Given the description of an element on the screen output the (x, y) to click on. 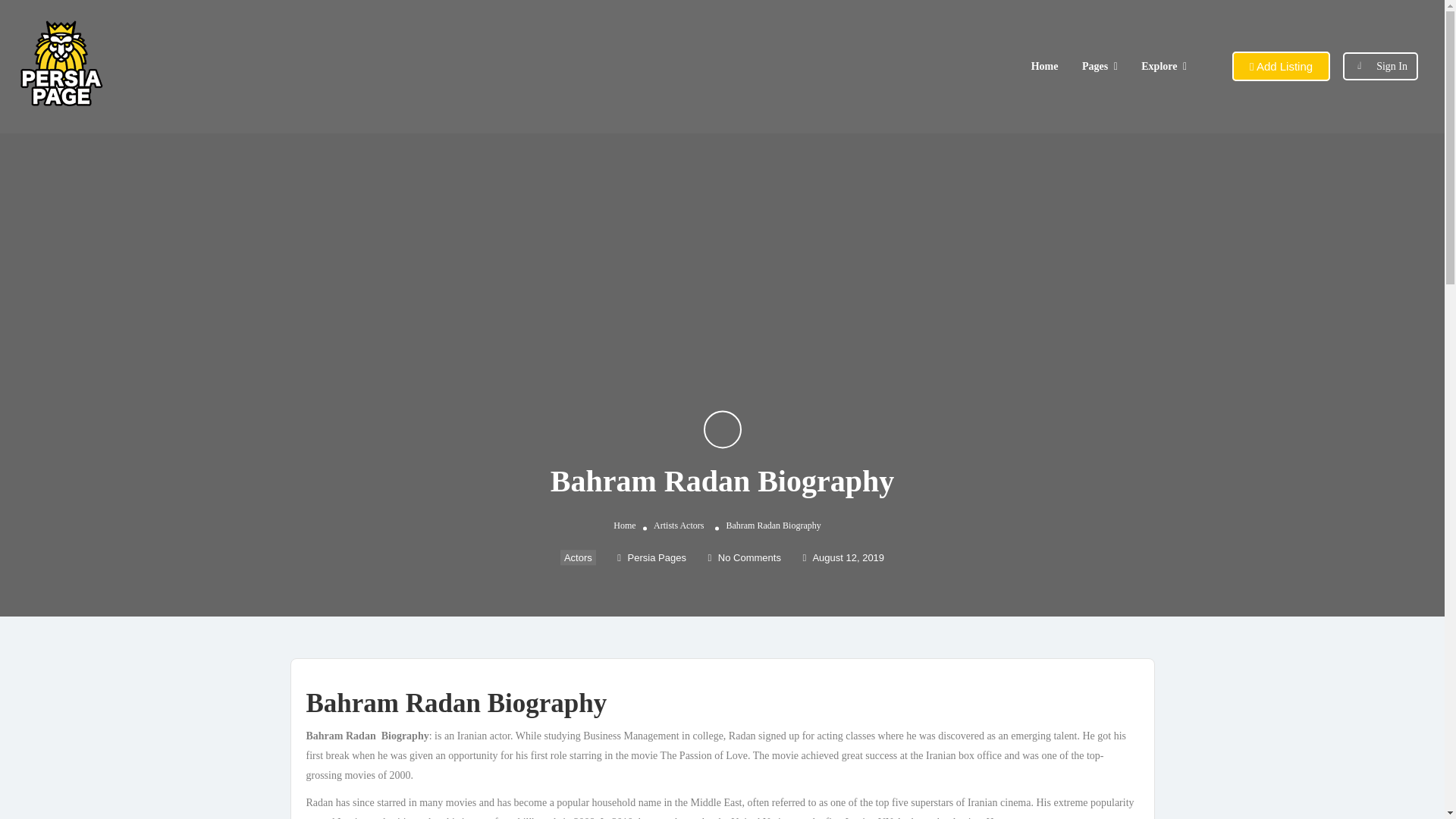
Pages (1094, 66)
Actors (691, 525)
Add Listing (1280, 66)
Actors (577, 557)
Sign In (1391, 65)
Home (623, 525)
Explore (1158, 66)
Home (1044, 66)
Artists (665, 525)
